Given the description of an element on the screen output the (x, y) to click on. 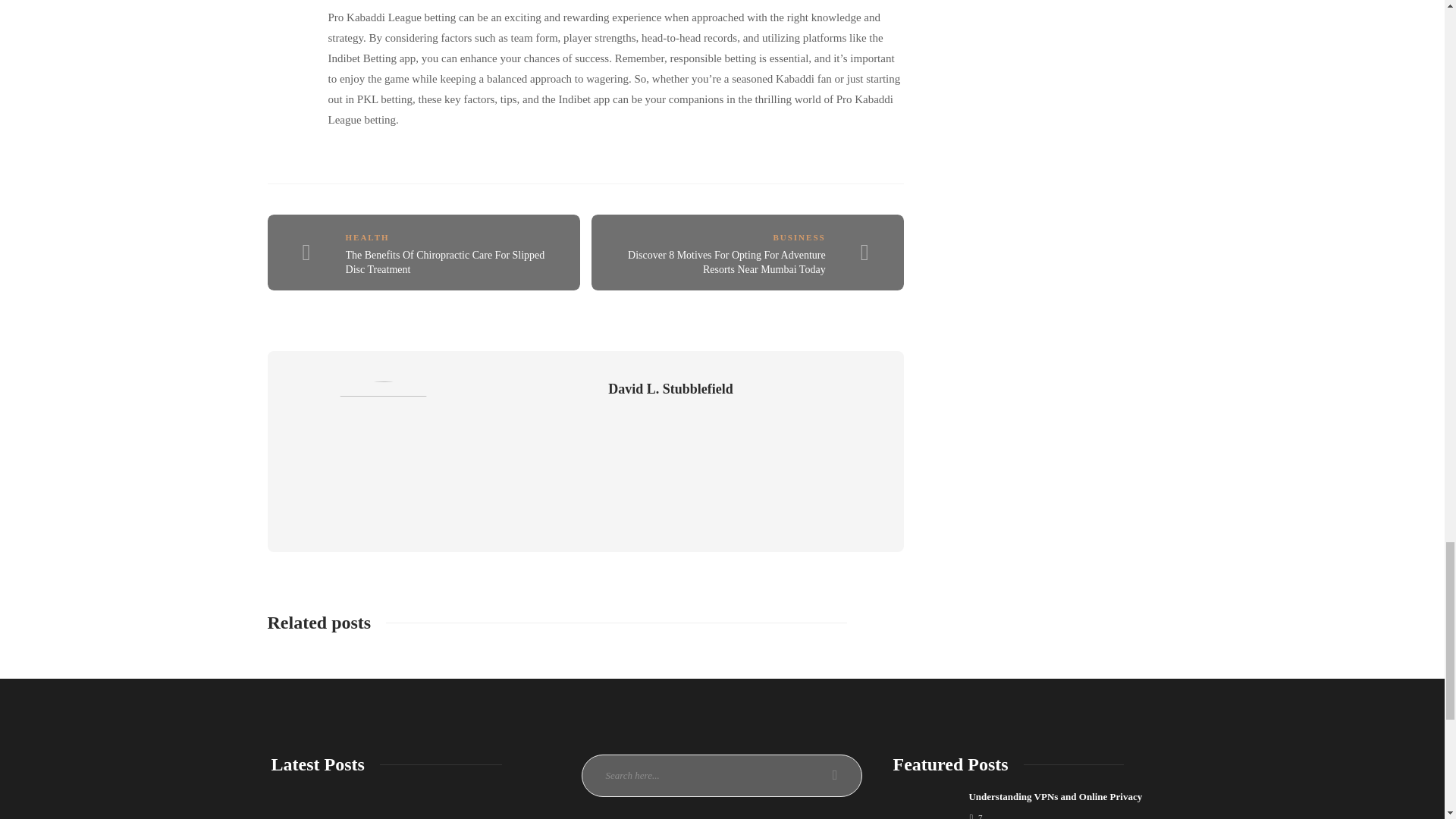
Search text (720, 775)
HEALTH (368, 236)
The Benefits Of Chiropractic Care For Slipped Disc Treatment (445, 262)
BUSINESS (799, 236)
David L. Stubblefield (670, 389)
